Given the description of an element on the screen output the (x, y) to click on. 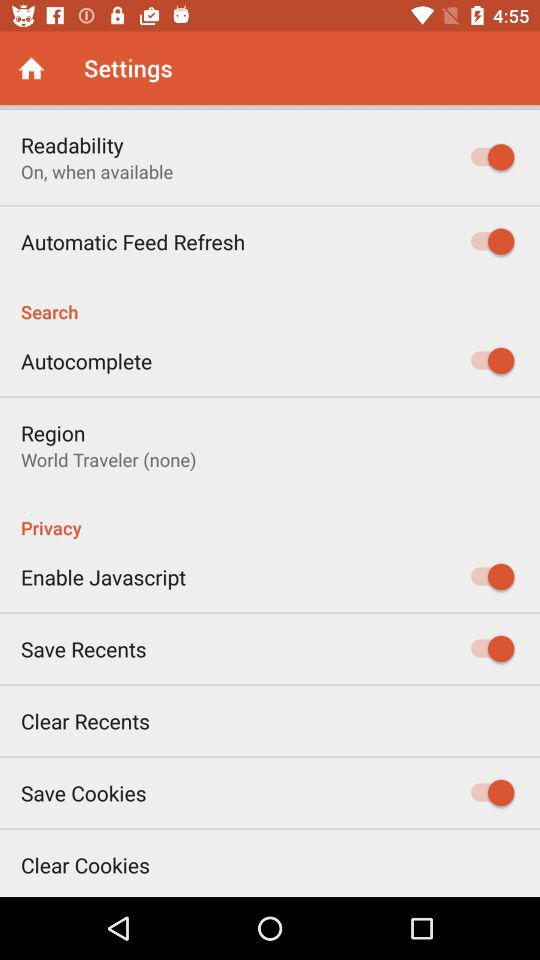
turn on icon below region item (108, 459)
